Given the description of an element on the screen output the (x, y) to click on. 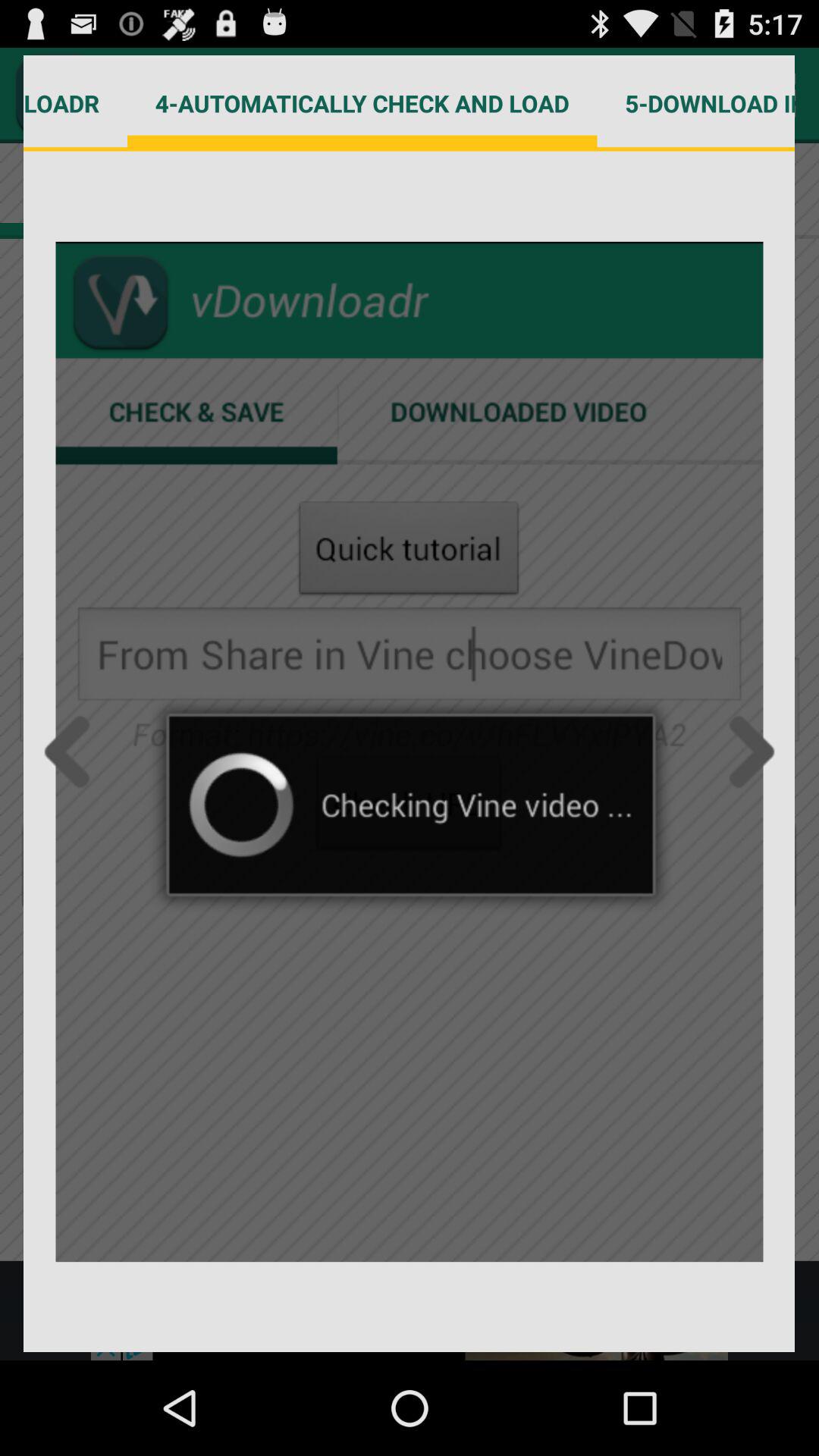
tap item next to 4 automatically check (696, 103)
